Given the description of an element on the screen output the (x, y) to click on. 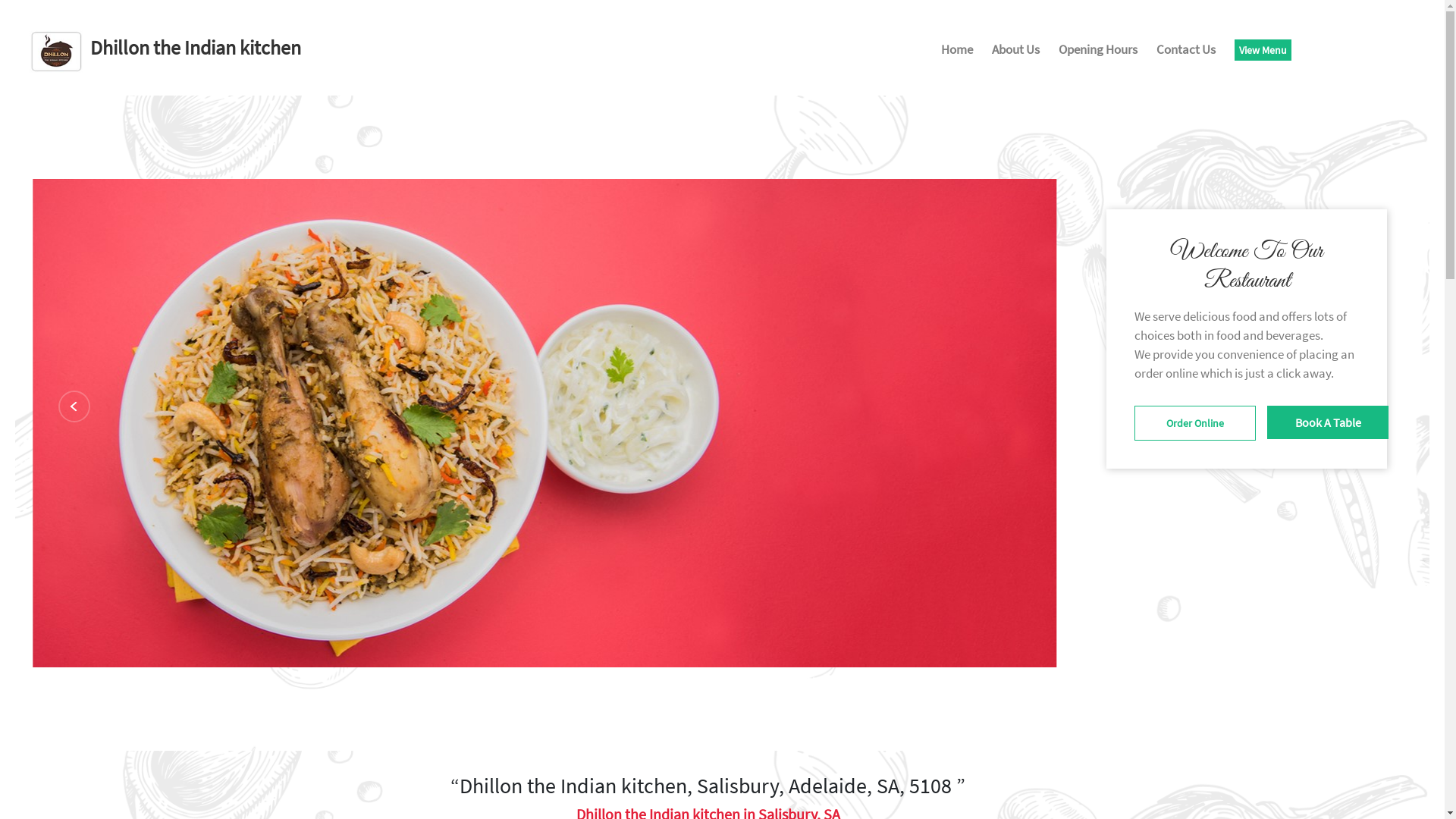
View Menu Element type: text (1262, 49)
About Us Element type: text (1015, 50)
Contact Us Element type: text (1185, 50)
Home Element type: text (956, 50)
Opening Hours Element type: text (1097, 50)
Book A Table Element type: text (1327, 422)
Order Online Element type: text (1194, 422)
